Given the description of an element on the screen output the (x, y) to click on. 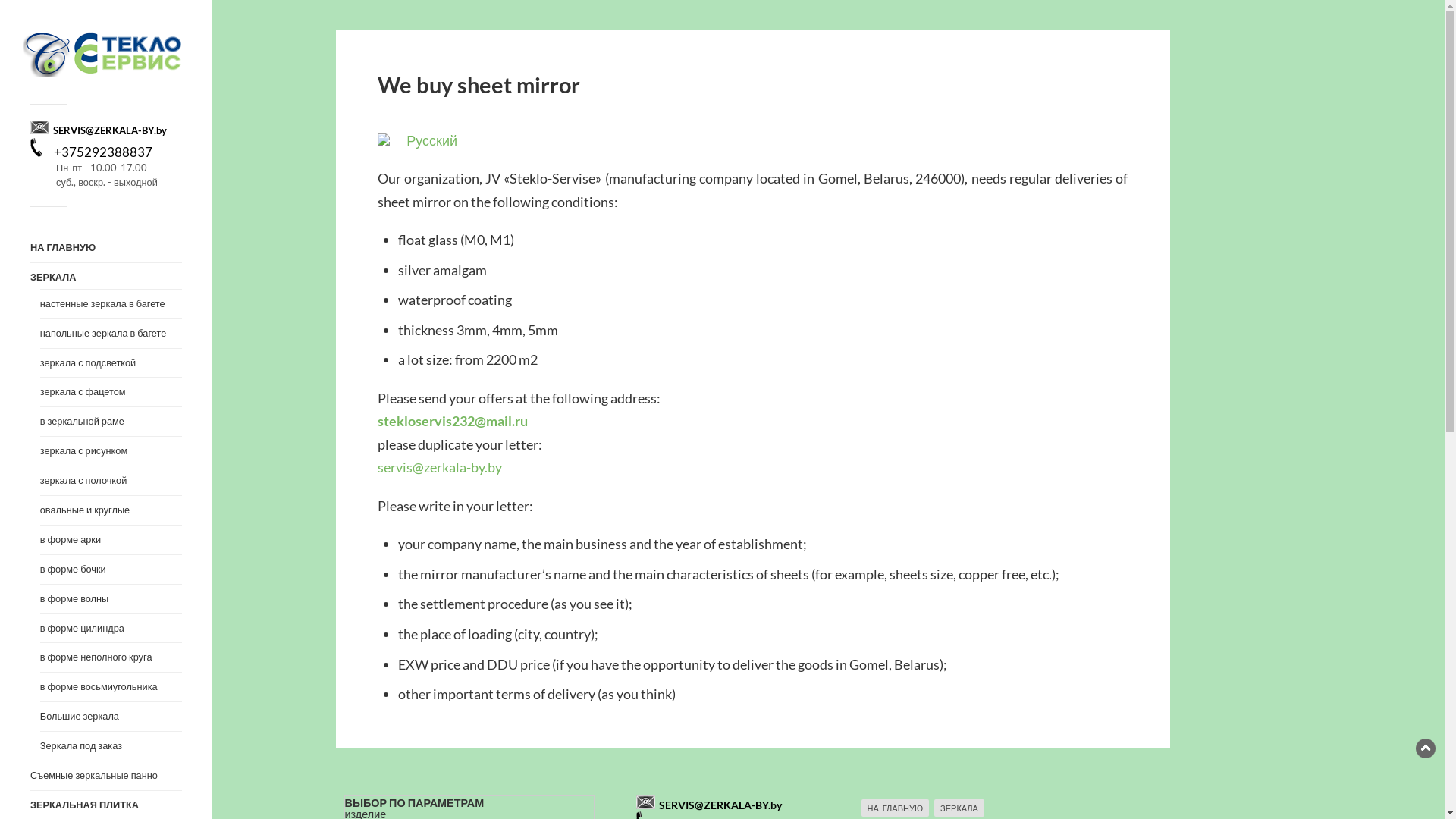
servis@zerkala-by.by Element type: text (439, 466)
SERVIS@ZERKALA-BY.by Element type: text (719, 804)
stekloservis232@mail.ru Element type: text (452, 420)
+375292388837 Element type: text (102, 152)
SERVIS@ZERKALA-BY.by Element type: text (109, 130)
